Given the description of an element on the screen output the (x, y) to click on. 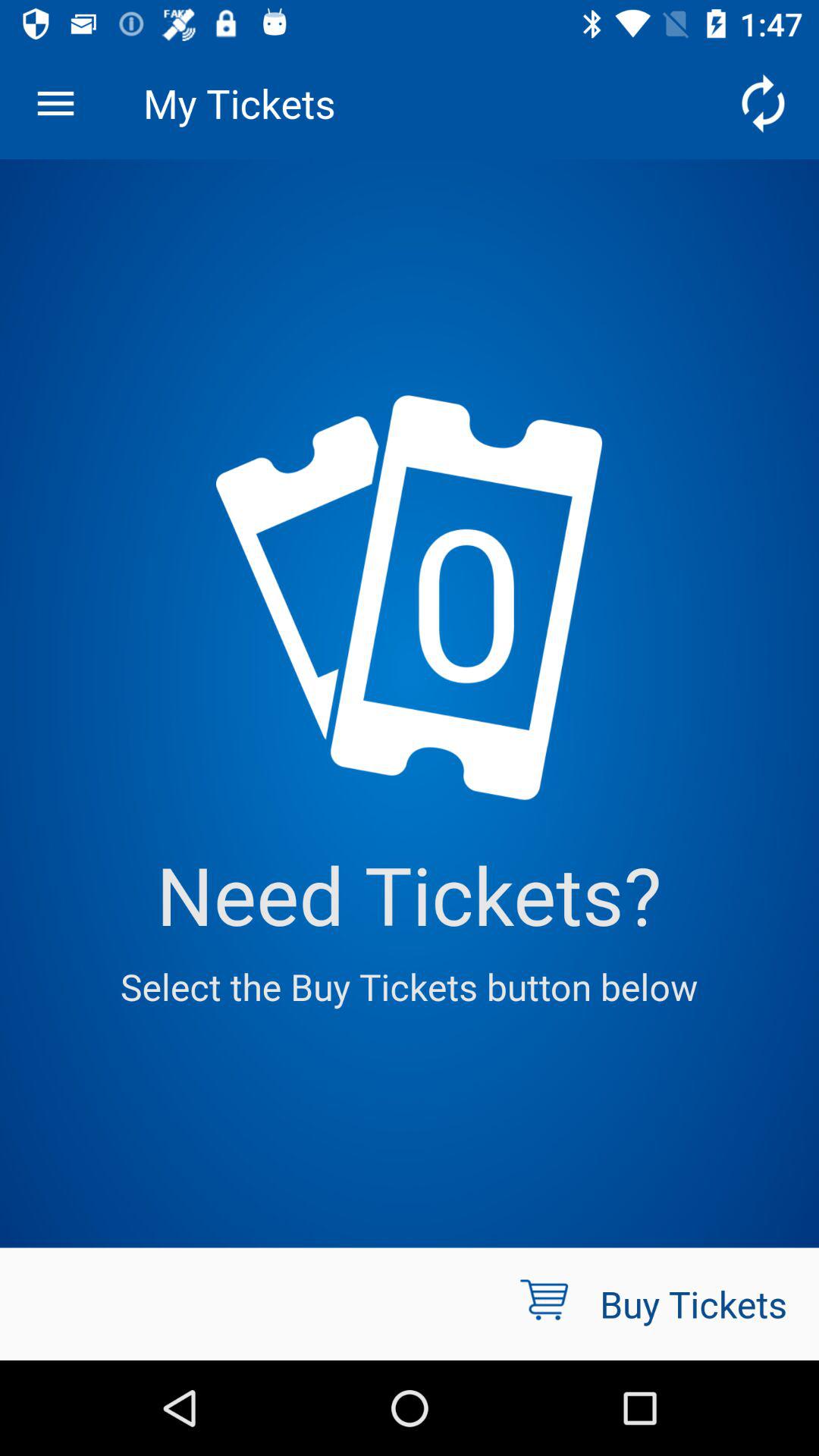
select the item above buy tickets (763, 103)
